Given the description of an element on the screen output the (x, y) to click on. 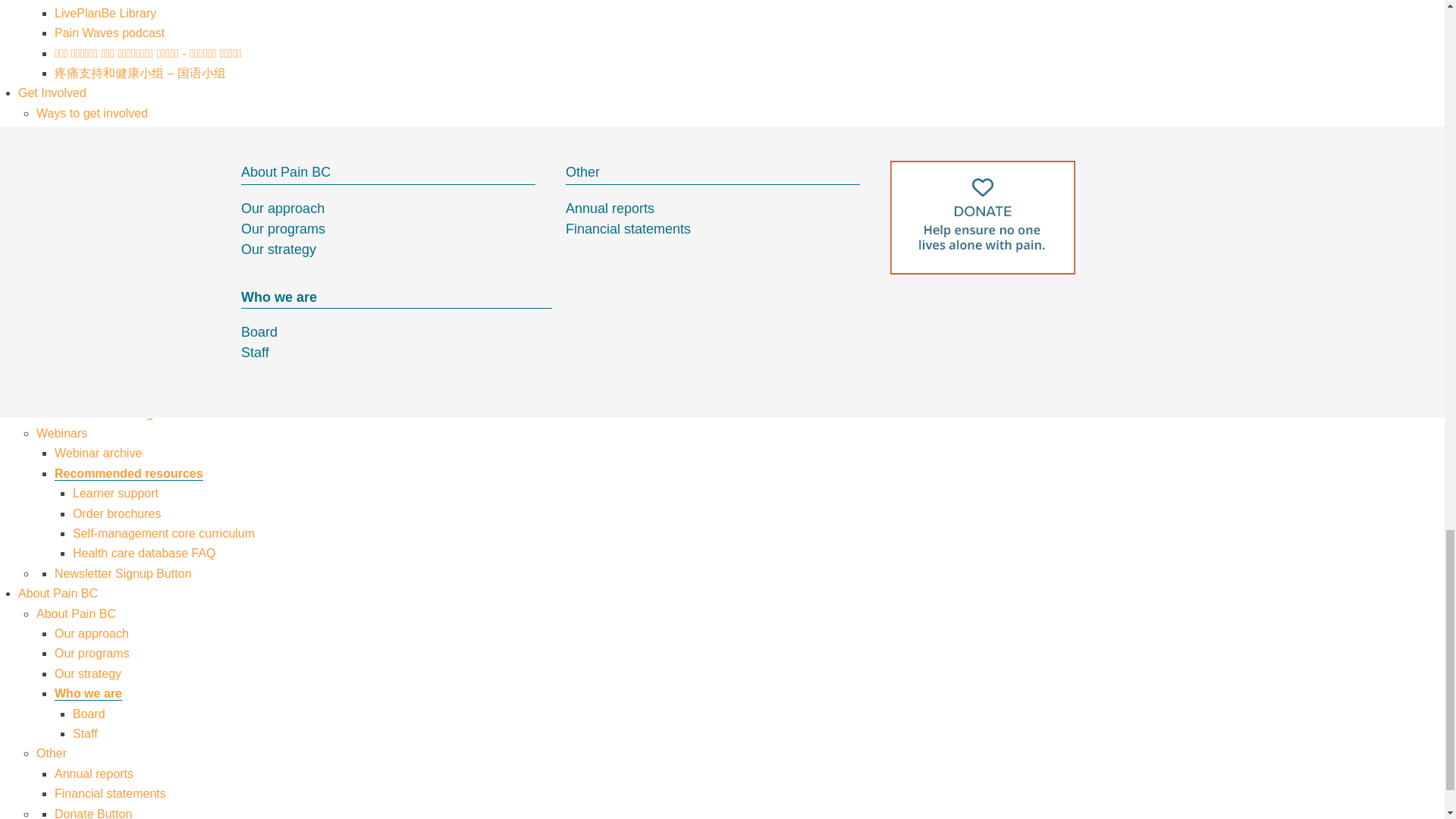
Become a member (106, 232)
Pain Waves podcast (109, 32)
Take action (85, 153)
Self-management core curriculum  (163, 533)
Health care database FAQ (143, 553)
